Given the description of an element on the screen output the (x, y) to click on. 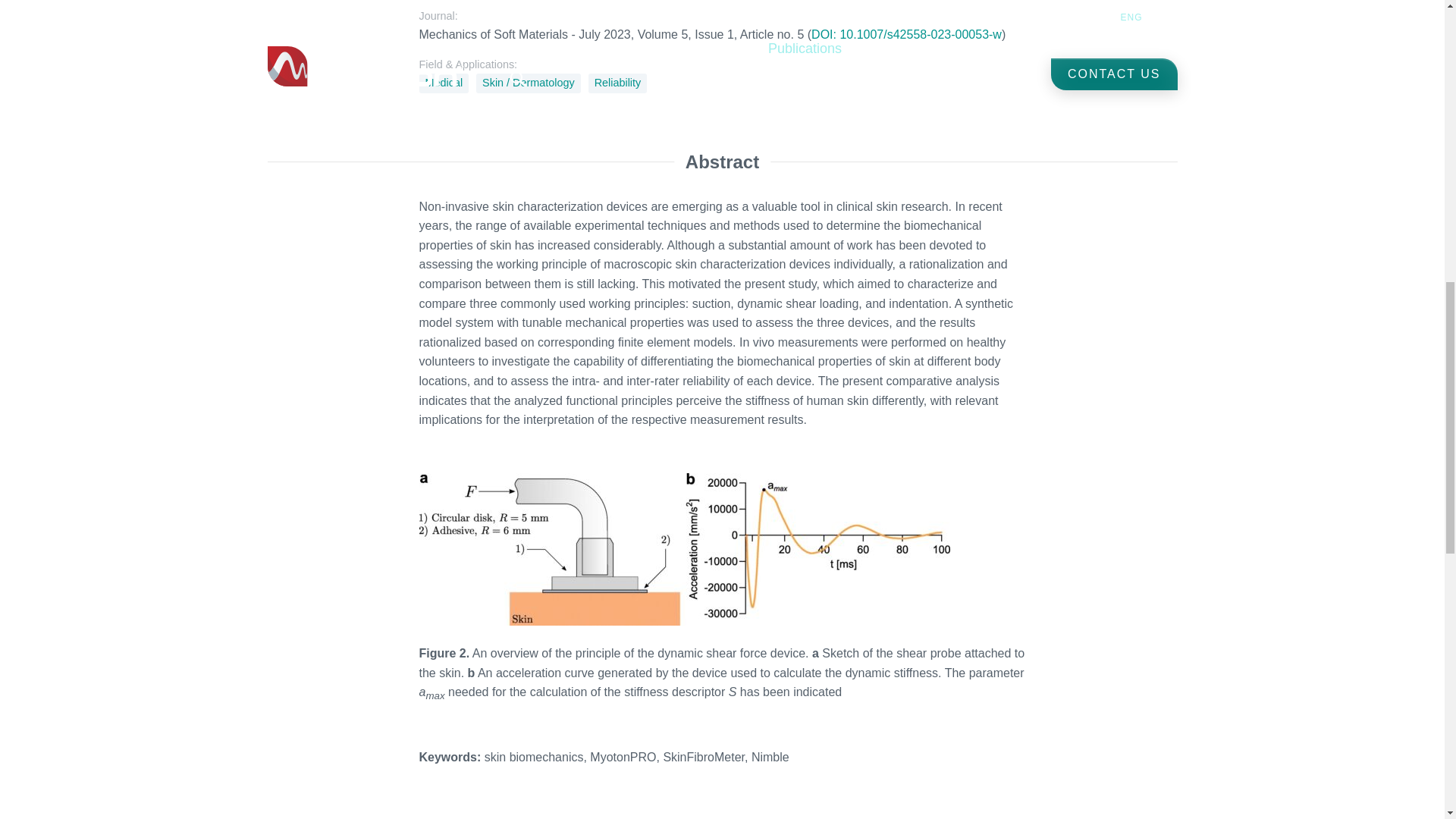
Medical (443, 82)
Reliability (617, 82)
